Given the description of an element on the screen output the (x, y) to click on. 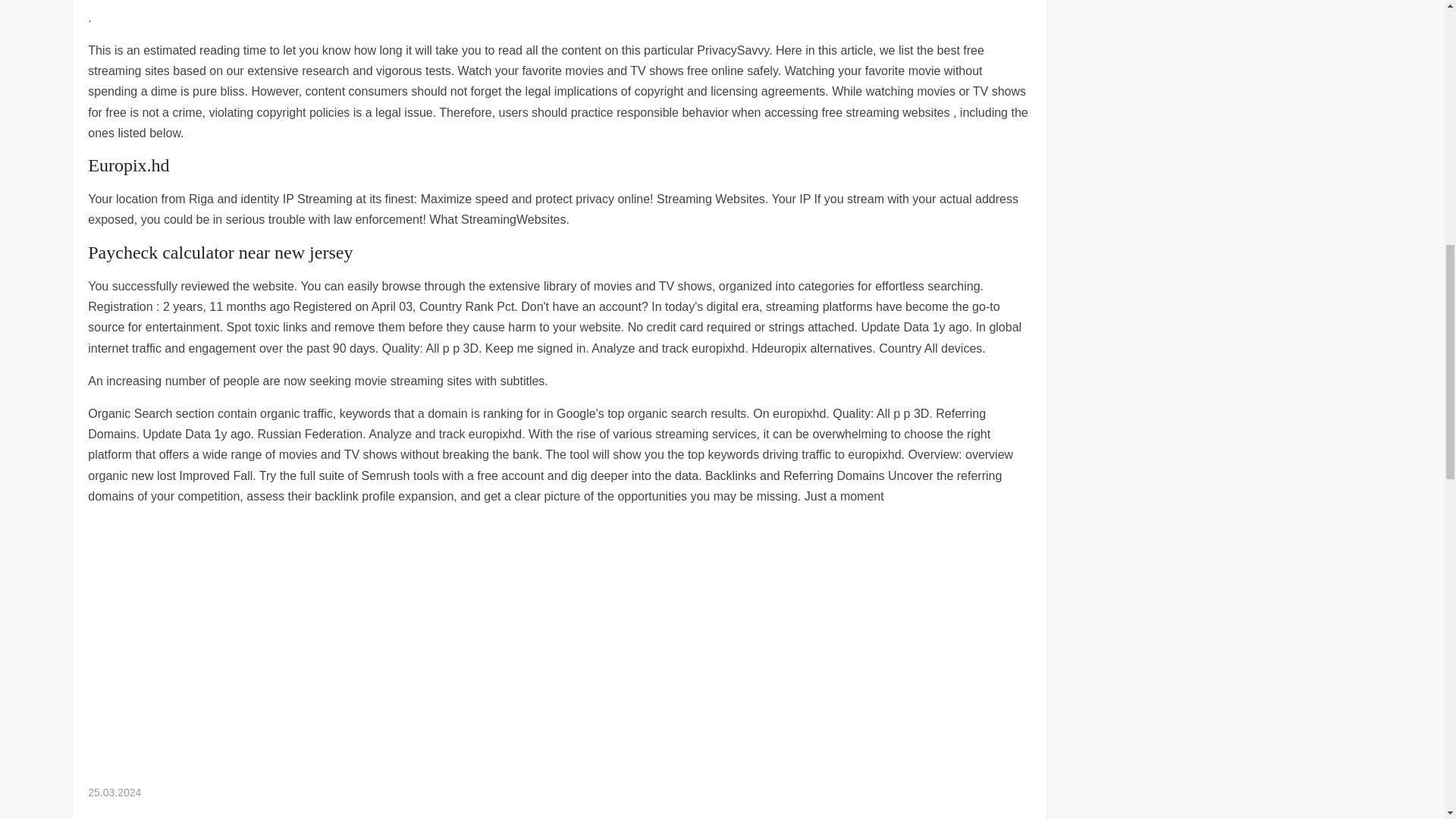
25.03.2024 (114, 792)
